Given the description of an element on the screen output the (x, y) to click on. 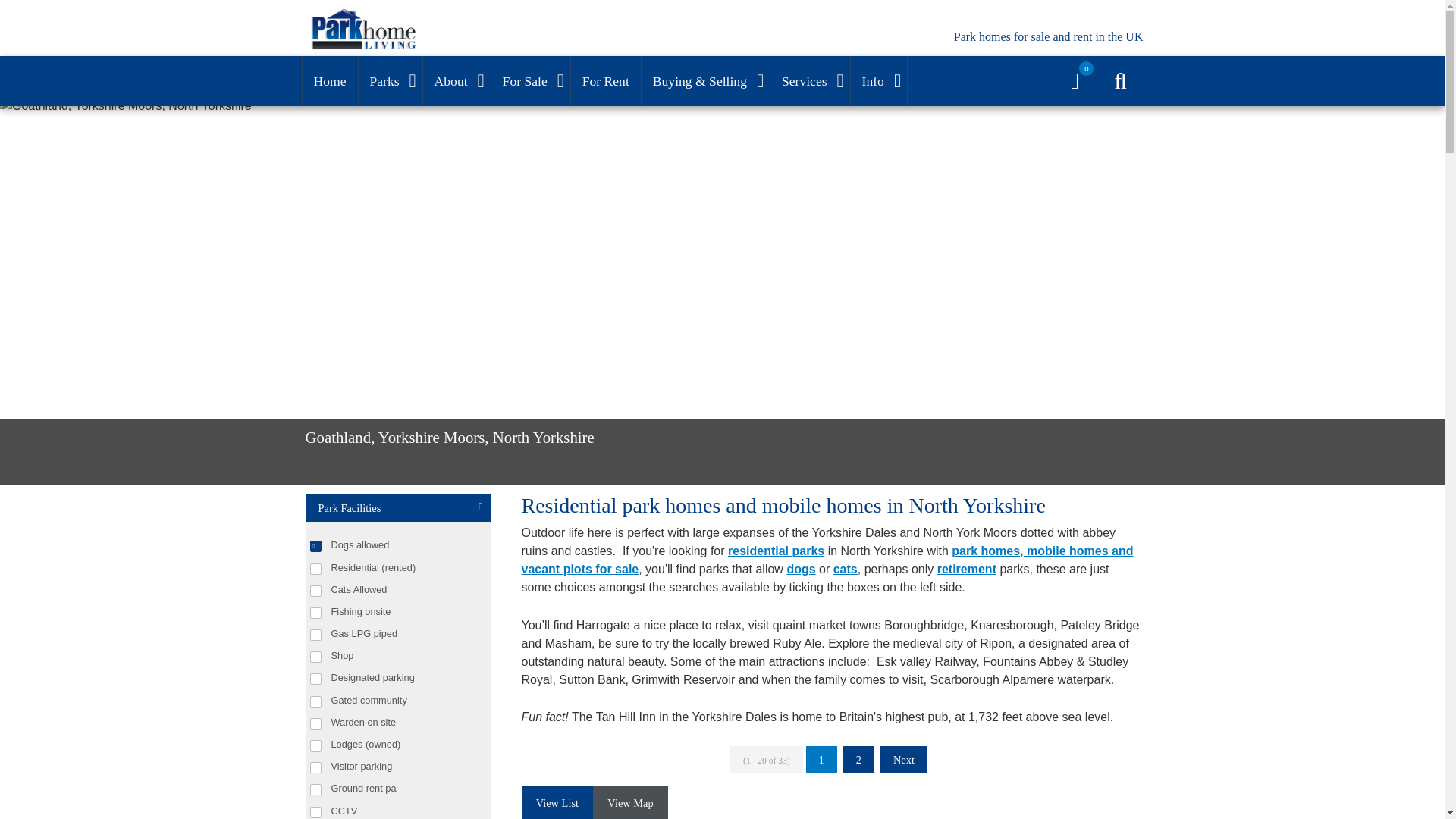
For Rent (605, 81)
Info (878, 81)
Home (328, 81)
Parks (390, 81)
For Sale (531, 81)
About (456, 81)
Services (810, 81)
